Given the description of an element on the screen output the (x, y) to click on. 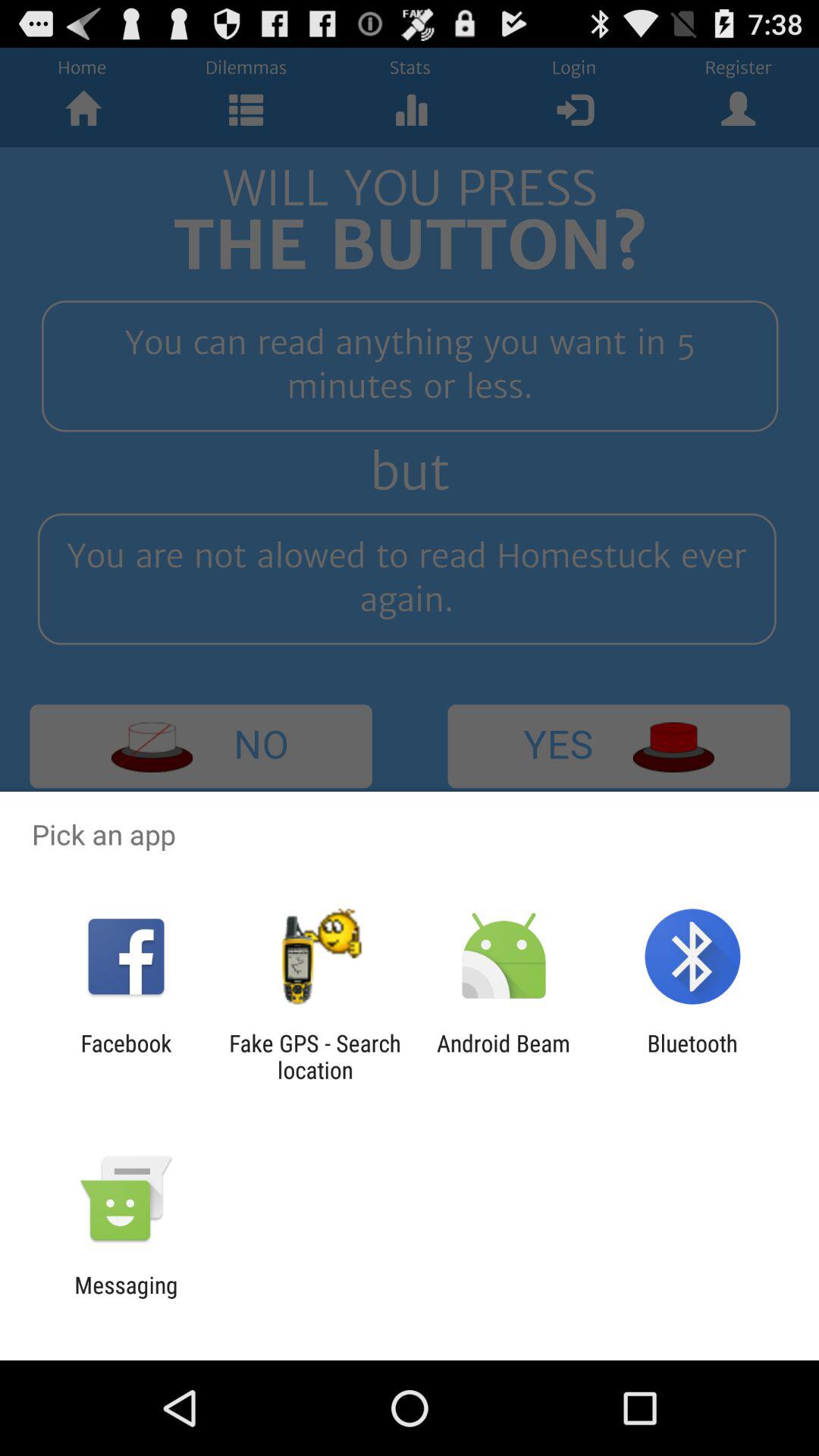
open bluetooth icon (692, 1056)
